Given the description of an element on the screen output the (x, y) to click on. 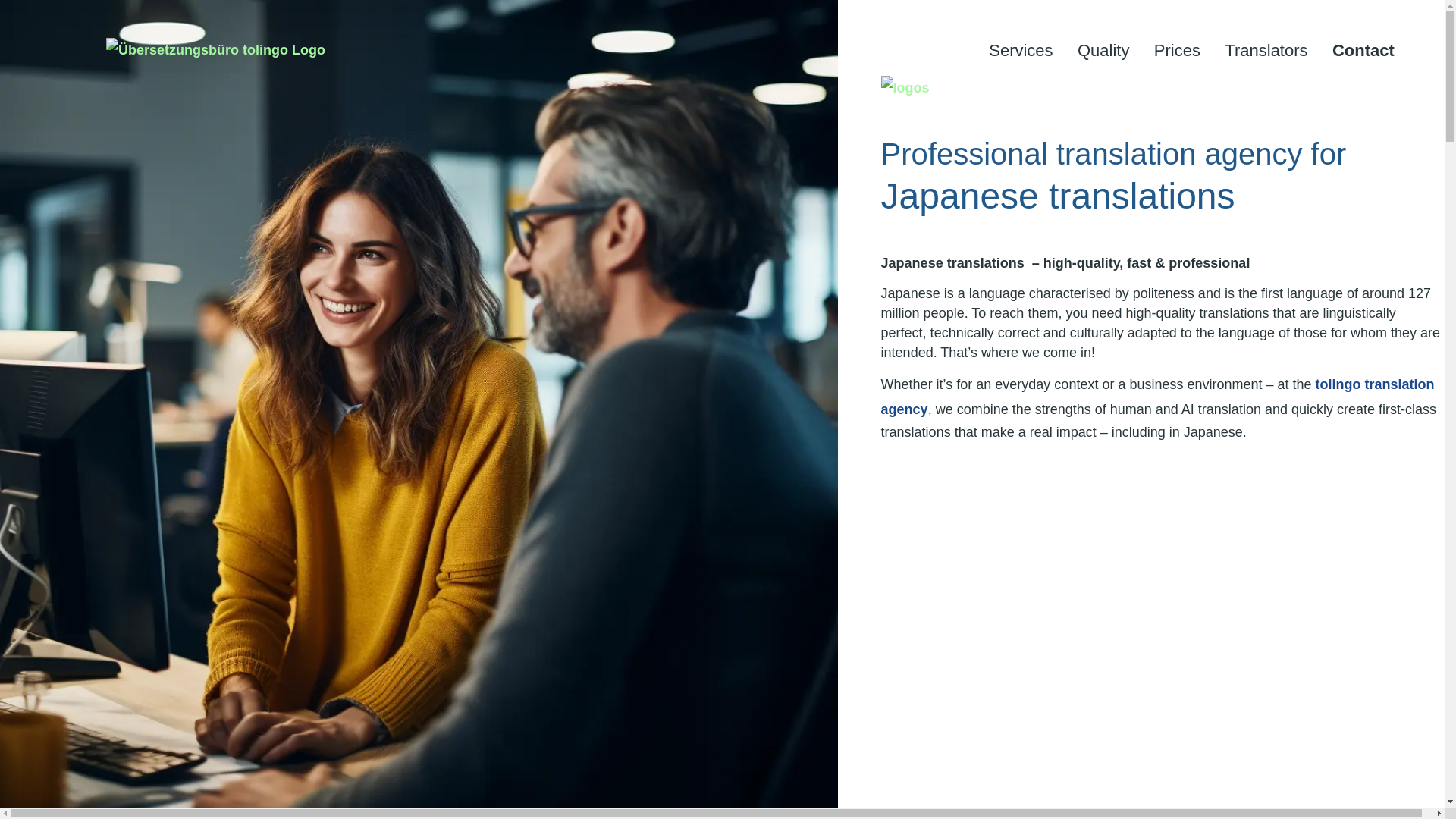
Services (1020, 50)
Quality (1103, 50)
Contact (1363, 50)
Prices (1176, 50)
Translators (1265, 50)
